Given the description of an element on the screen output the (x, y) to click on. 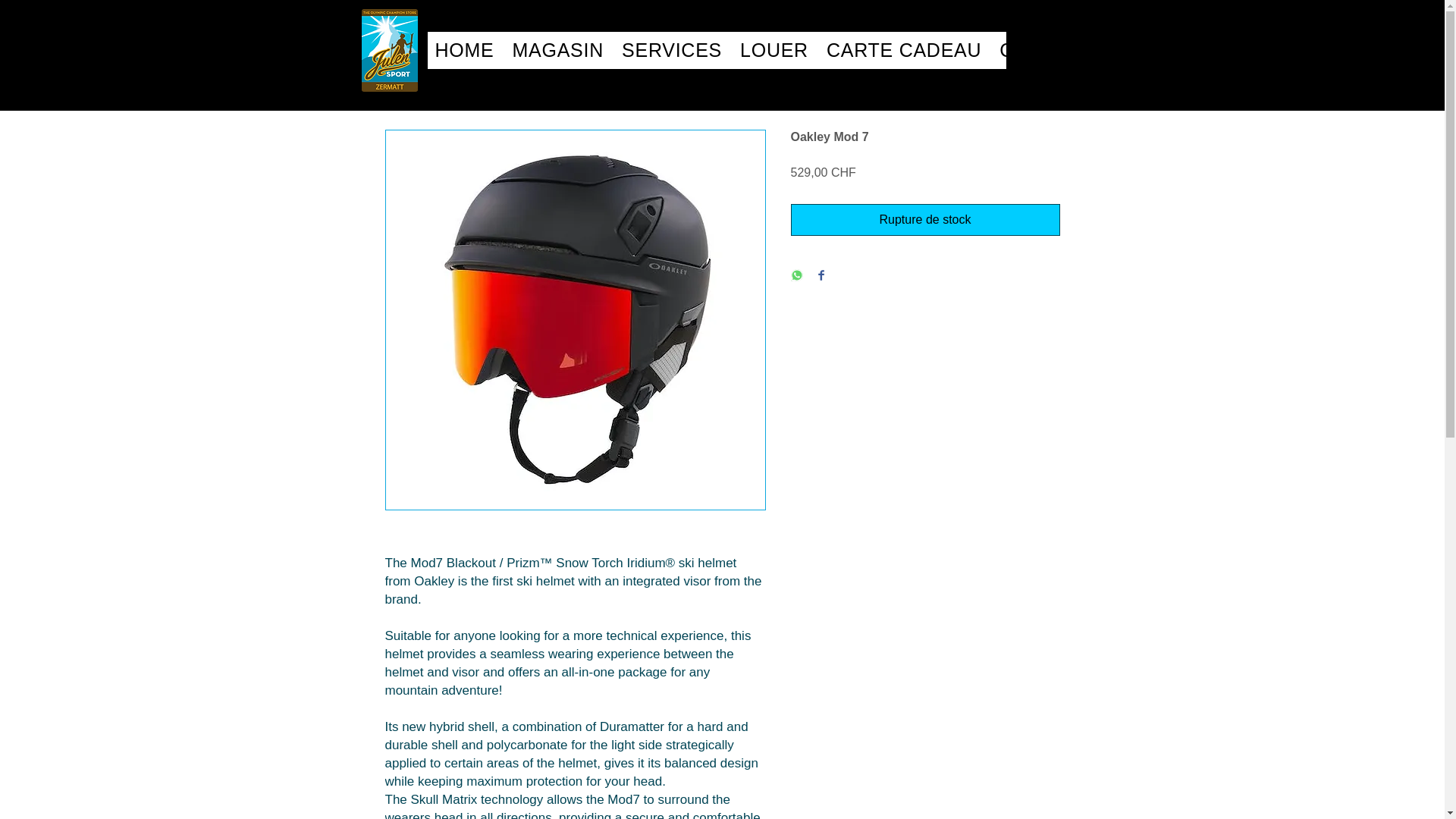
LOUER (773, 49)
MAGASIN (558, 49)
CARTE CADEAU (903, 49)
Rupture de stock (717, 49)
SERVICES (924, 219)
HOME (671, 49)
CONTACT (465, 49)
